Given the description of an element on the screen output the (x, y) to click on. 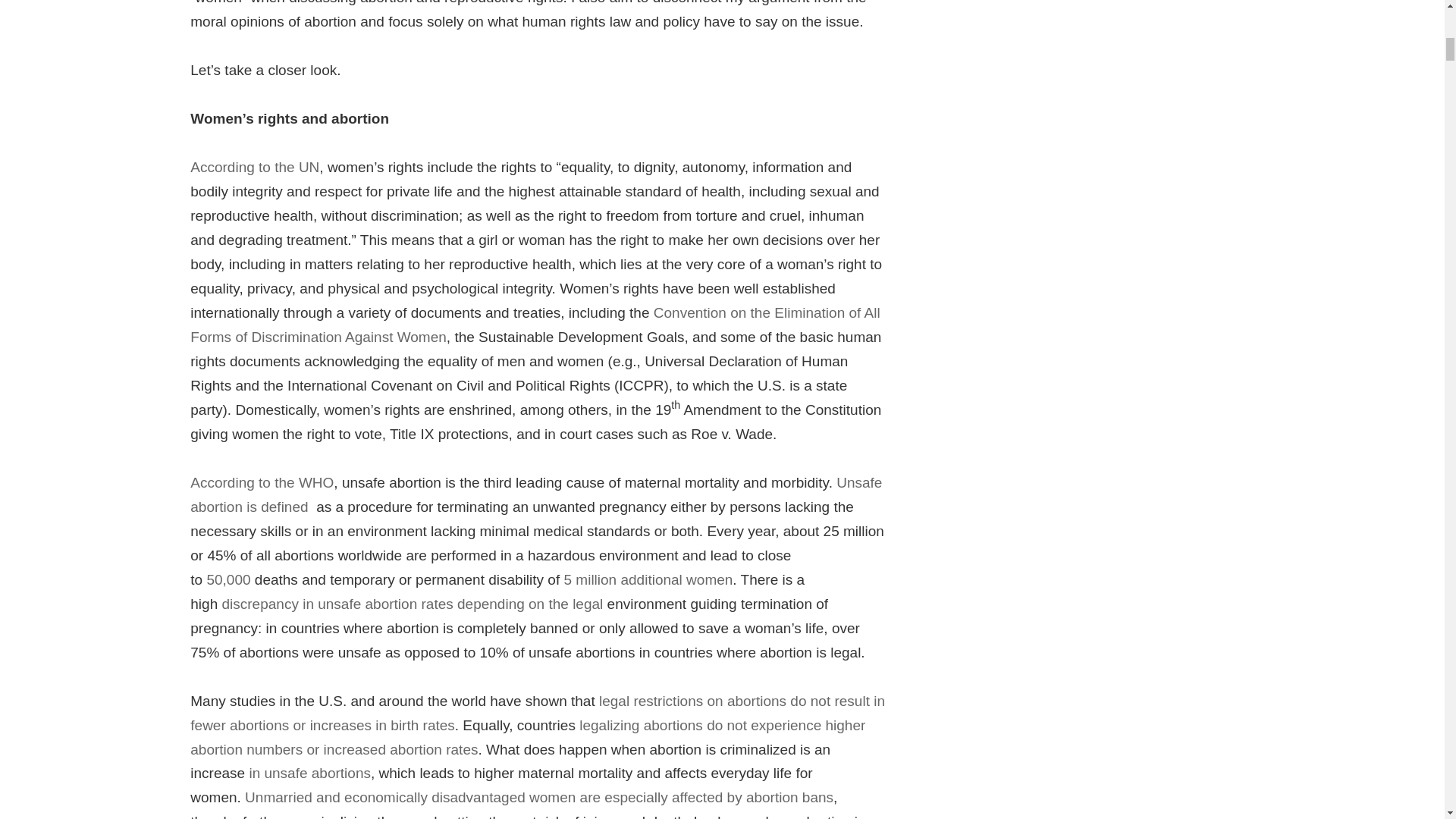
 in unsafe abortions (307, 773)
According to the UN (254, 167)
5 million additional women (648, 579)
Unsafe abortion is defined (536, 495)
discrepancy in unsafe abortion rates depending on the legal  (414, 604)
50,000  (229, 579)
According to the WHO (261, 483)
